Given the description of an element on the screen output the (x, y) to click on. 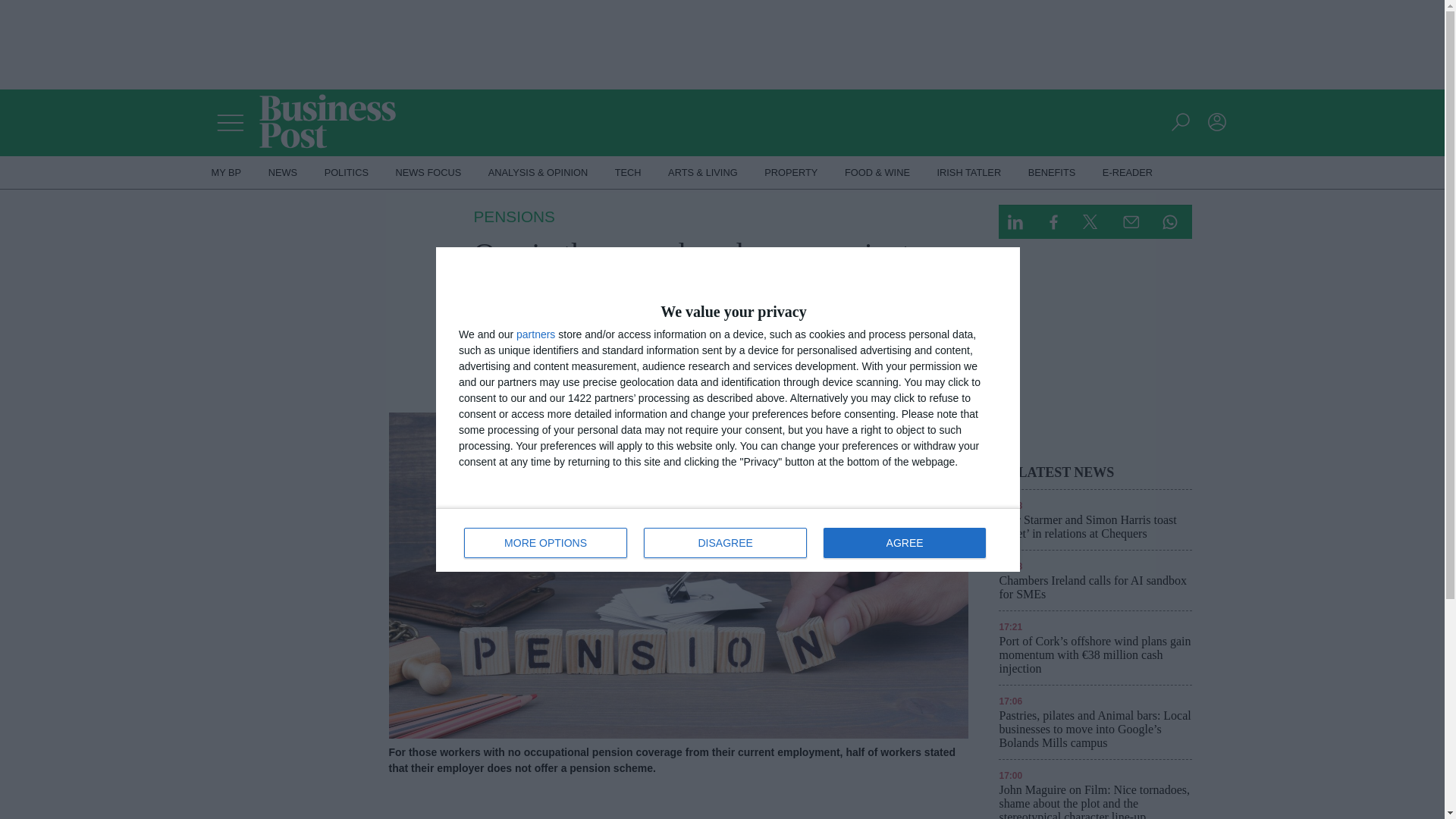
MY BP (225, 172)
POLITICS (346, 172)
BENEFITS (1051, 172)
IRISH TATLER (968, 172)
NEWS FOCUS (429, 172)
NEWS (282, 172)
E-READER (1127, 172)
DISAGREE (724, 542)
PROPERTY (790, 172)
MORE OPTIONS (545, 542)
TECH (727, 539)
partners (627, 172)
AGREE (535, 334)
